Given the description of an element on the screen output the (x, y) to click on. 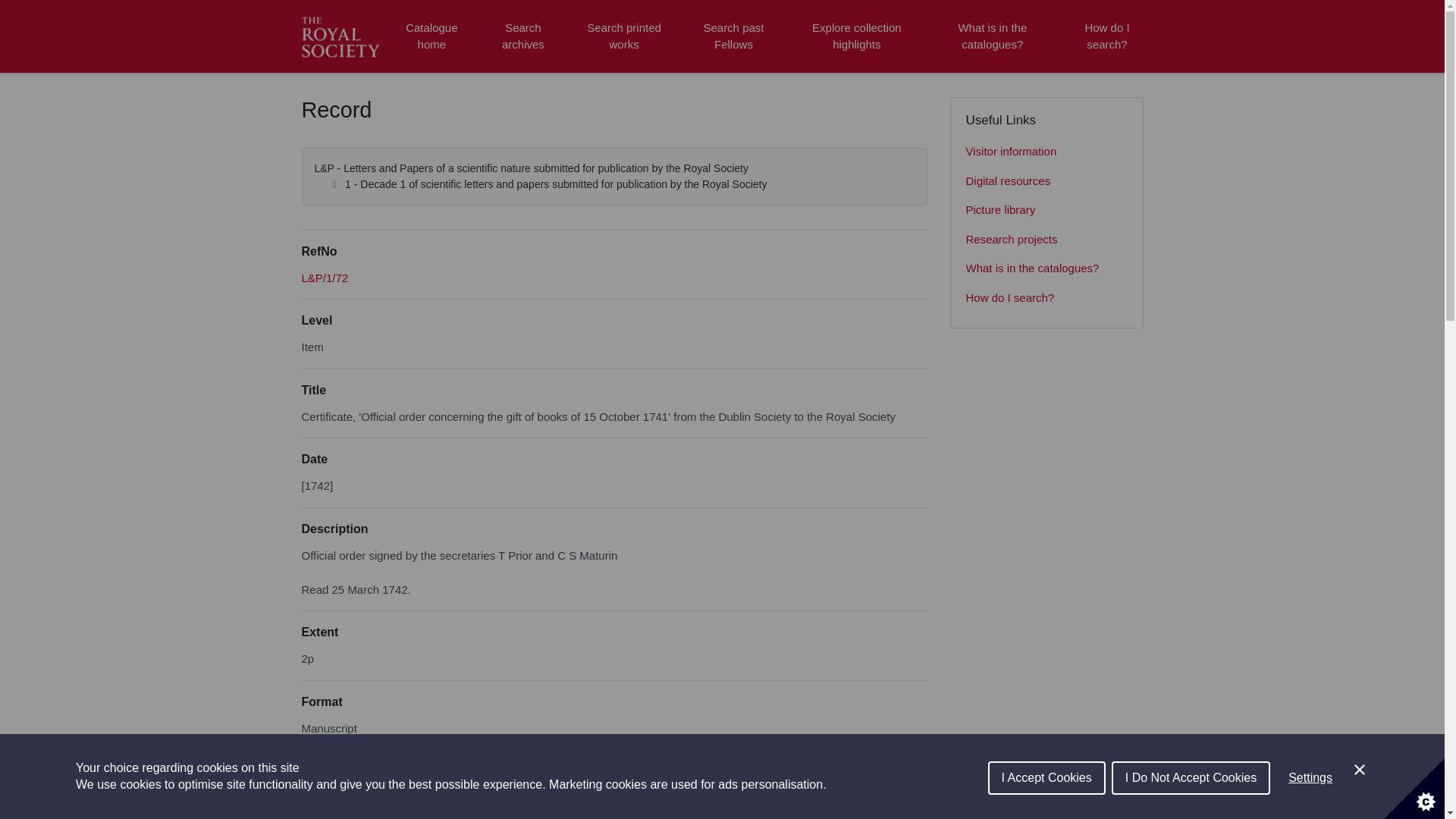
Search past Fellows (732, 36)
Picture library (1046, 210)
Homepage (343, 36)
Catalogue home (431, 36)
Digital resources (1046, 181)
Visitor information (1046, 152)
Search printed works (624, 36)
Explore collection highlights (856, 36)
Settings (1309, 816)
Research projects (1046, 239)
What is in the catalogues? (991, 36)
Search archives (522, 36)
How do I search? (1106, 36)
What is in the catalogues? (1046, 268)
